Given the description of an element on the screen output the (x, y) to click on. 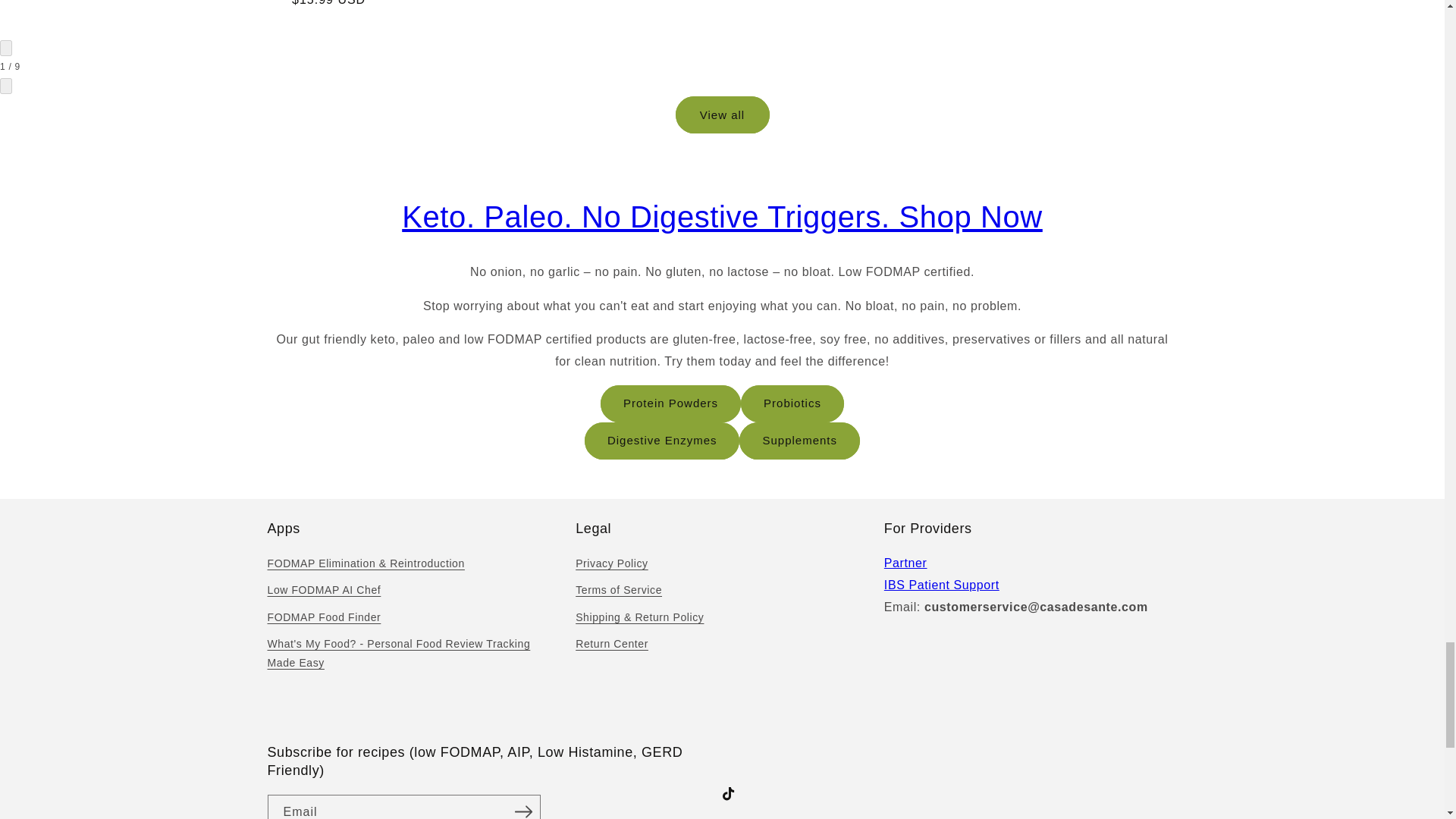
IBS Support (940, 584)
